Given the description of an element on the screen output the (x, y) to click on. 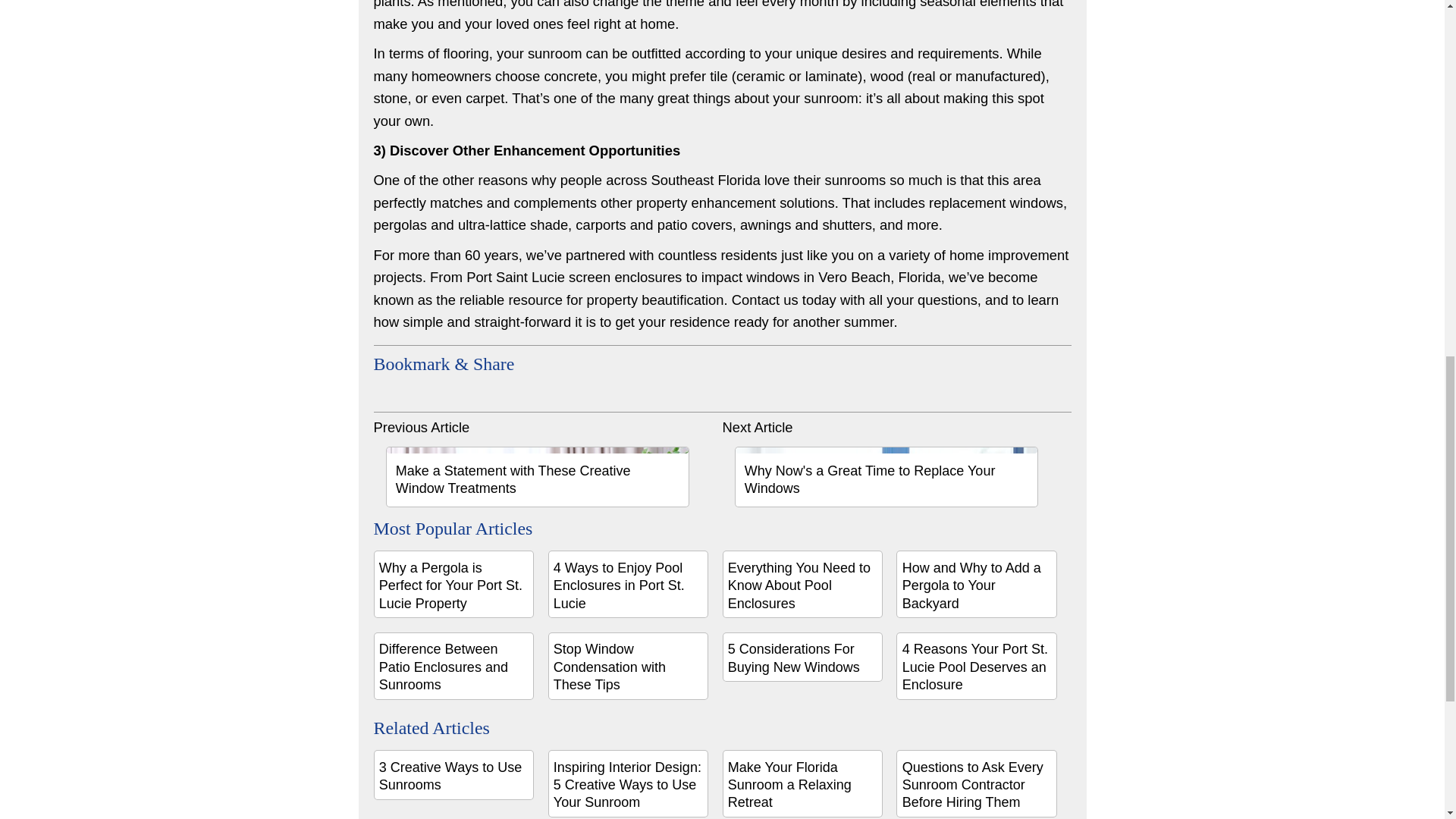
Why a Pergola is Perfect for Your Port St. Lucie Property (454, 584)
4 Ways to Enjoy Pool Enclosures in Port St. Lucie (628, 584)
3 Creative Ways to Use Sunrooms (454, 775)
5 Considerations For Buying New Windows (802, 657)
Make a Statement with These Creative Window Treatments (536, 476)
How and Why to Add a Pergola to Your Backyard (976, 584)
Everything You Need to Know About Pool Enclosures (802, 584)
Make Your Florida Sunroom a Relaxing Retreat (802, 783)
Stop Window Condensation with These Tips (628, 666)
